Given the description of an element on the screen output the (x, y) to click on. 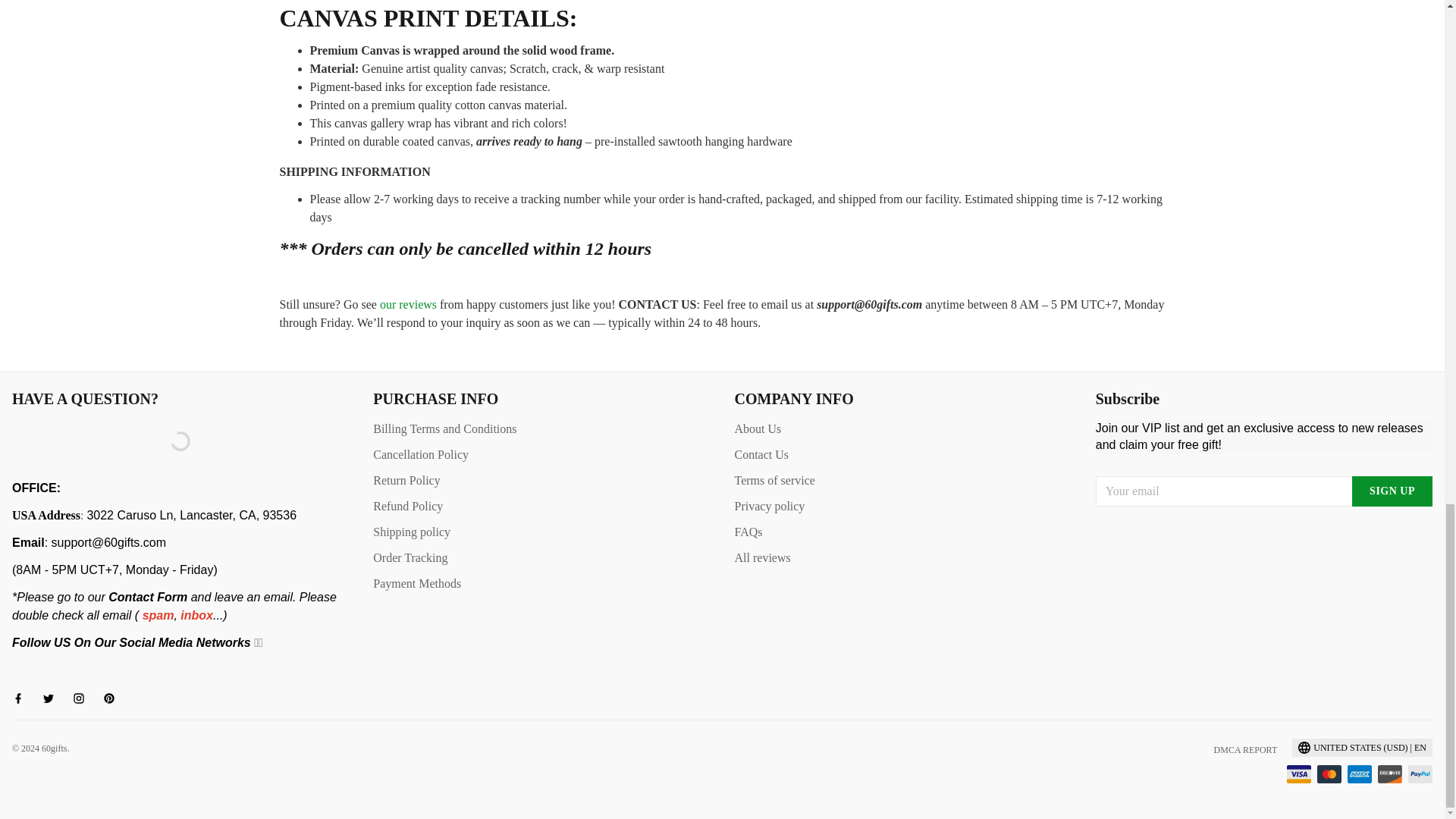
Benicee on Facebook (13, 670)
twitter (53, 698)
instagram (83, 698)
facebook (22, 698)
pinterest (113, 698)
